Given the description of an element on the screen output the (x, y) to click on. 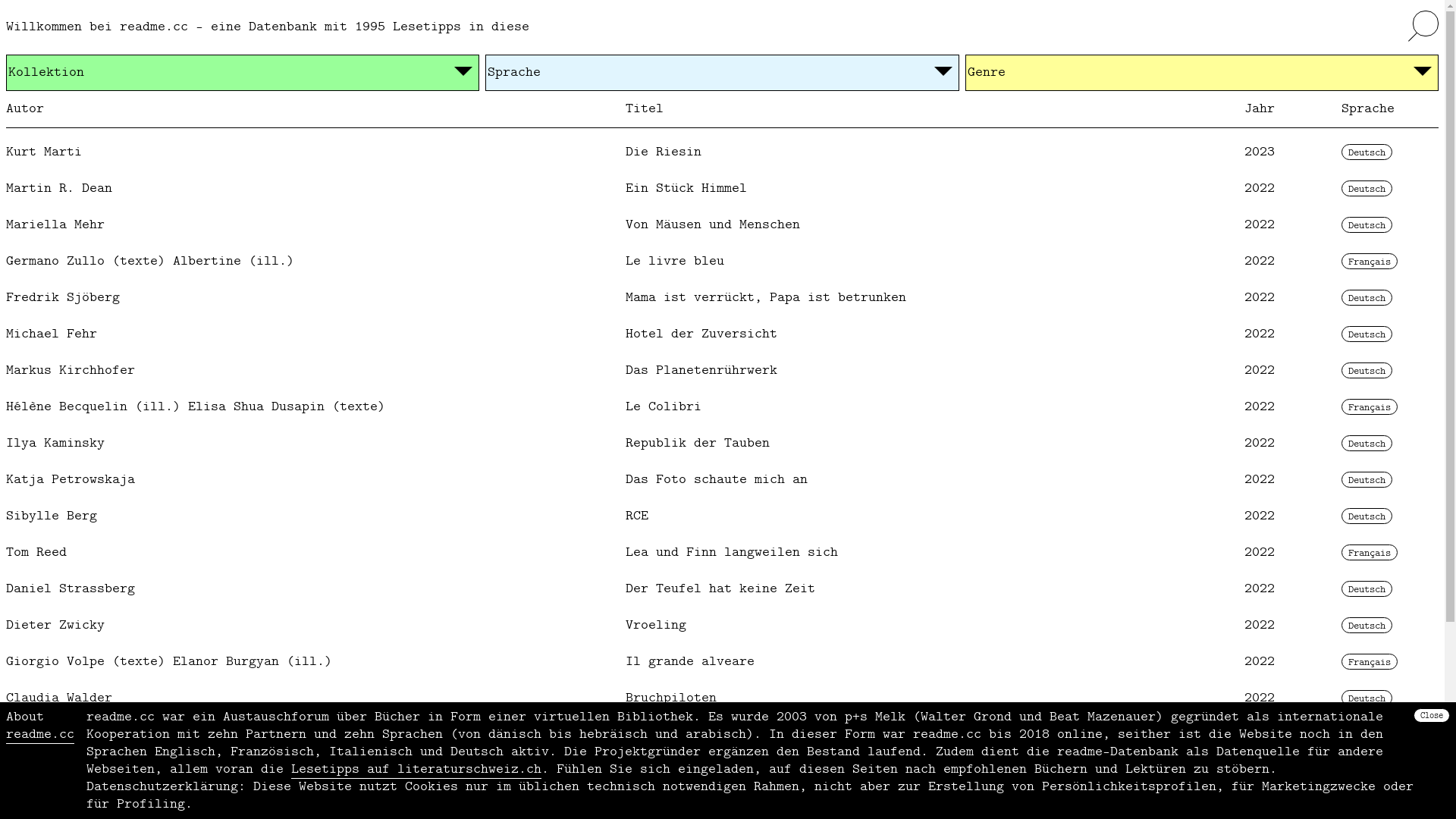
Daniel Strassberg
Der Teufel hat keine Zeit
2022
Deutsch Element type: text (722, 589)
Claudia Walder
Bruchpiloten
2022
Deutsch Element type: text (722, 698)
Kurt Marti
Die Riesin
2023
Deutsch Element type: text (722, 152)
Dieter Zwicky
Vroeling
2022
Deutsch Element type: text (722, 625)
Sibylle Berg
RCE
2022
Deutsch Element type: text (722, 516)
Esther Kinsky
Rombo
2022
Deutsch Element type: text (722, 734)
Michael Fehr
Hotel der Zuversicht
2022
Deutsch Element type: text (722, 334)
Katja Petrowskaja
Das Foto schaute mich an
2022
Deutsch Element type: text (722, 479)
Ilya Kaminsky
Republik der Tauben
2022
Deutsch Element type: text (722, 443)
Yasmina Reza
Serge
2022
Deutsch Element type: text (722, 771)
Close Element type: text (1431, 760)
Lesetipps auf literaturschweiz.ch Element type: text (416, 769)
